Given the description of an element on the screen output the (x, y) to click on. 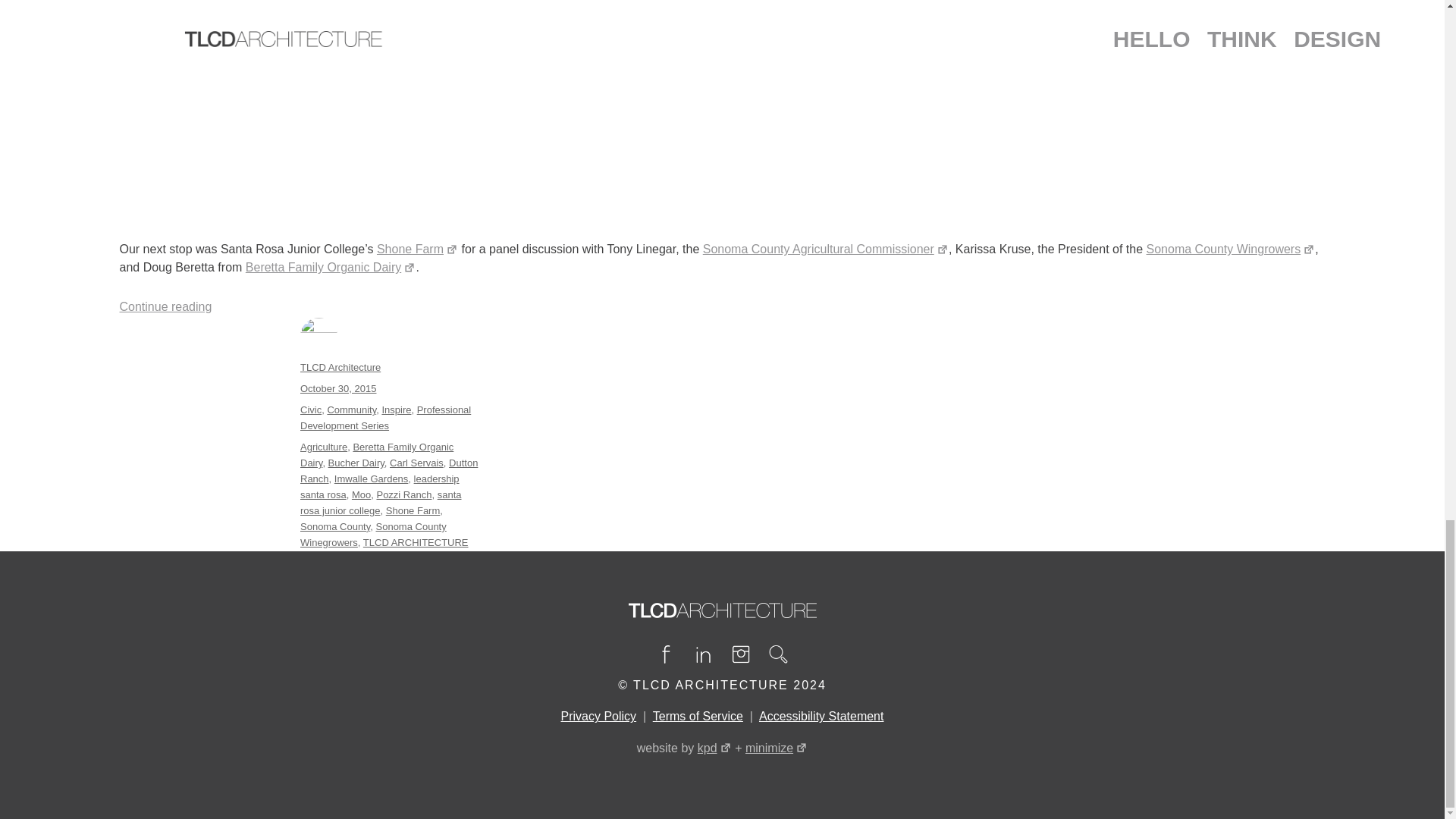
Sonoma County Wingrowers (1231, 248)
Shone Farm (413, 510)
Beretta Family Organic Dairy (375, 454)
Bucher Dairy (356, 462)
October 30, 2015 (337, 388)
Inspire (395, 409)
Sonoma County Agricultural Commissioner (826, 248)
Moo (361, 494)
Agriculture (323, 446)
Imwalle Gardens (371, 478)
Carl Servais (417, 462)
Civic (310, 409)
Shone Farm (417, 248)
Community (350, 409)
Professional Development Series (384, 417)
